Given the description of an element on the screen output the (x, y) to click on. 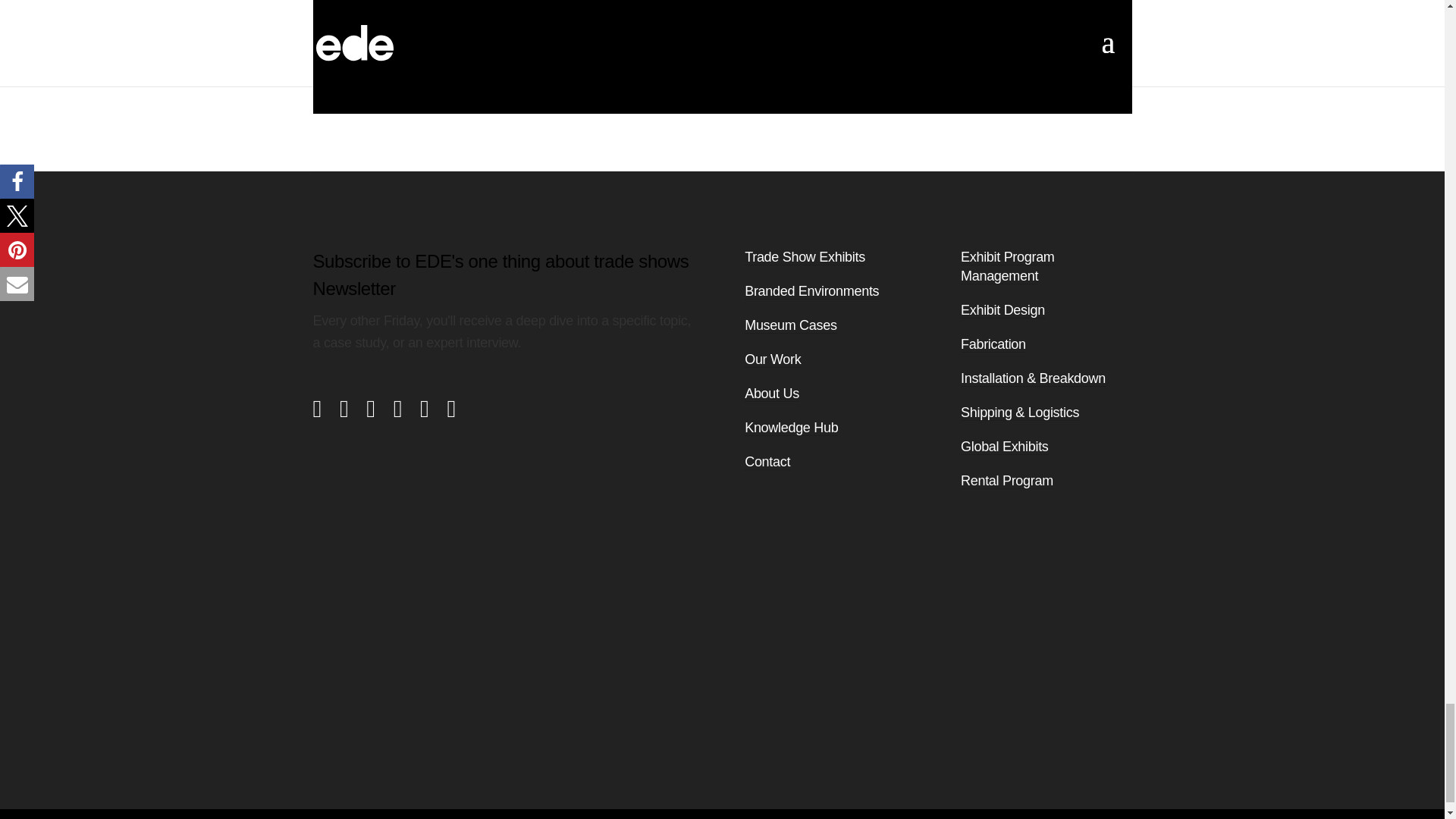
Exhibit Program Management (1007, 266)
About Us (771, 393)
Knowledge Hub (791, 427)
Branded Environments (811, 291)
Museum Cases (789, 325)
Trade Show Exhibits (804, 257)
Contact (767, 462)
Our Work (772, 359)
